Given the description of an element on the screen output the (x, y) to click on. 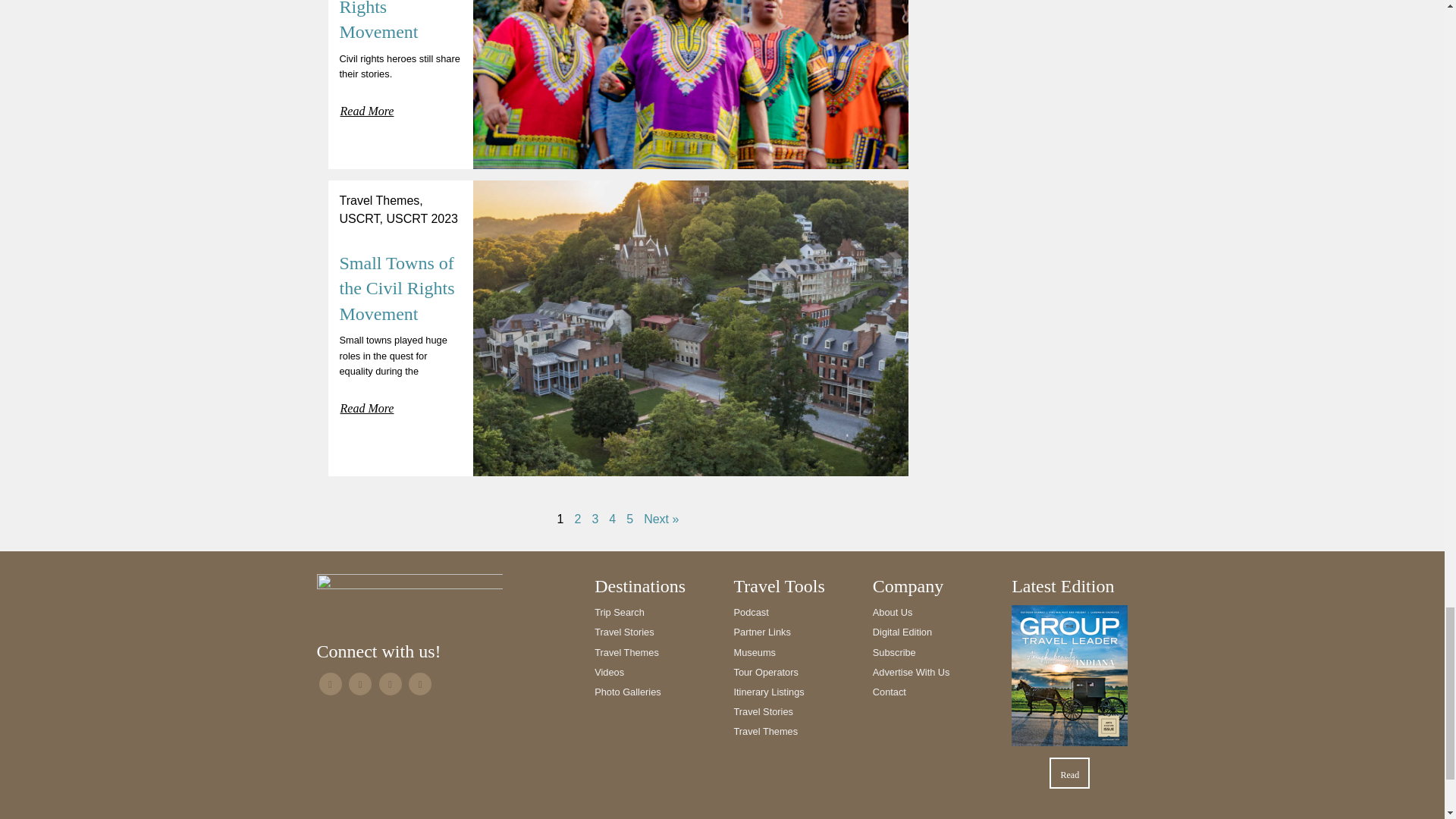
Living Legacies of the Civil Rights Movement (398, 21)
Small Towns of the Civil Rights Movement (396, 288)
